Given the description of an element on the screen output the (x, y) to click on. 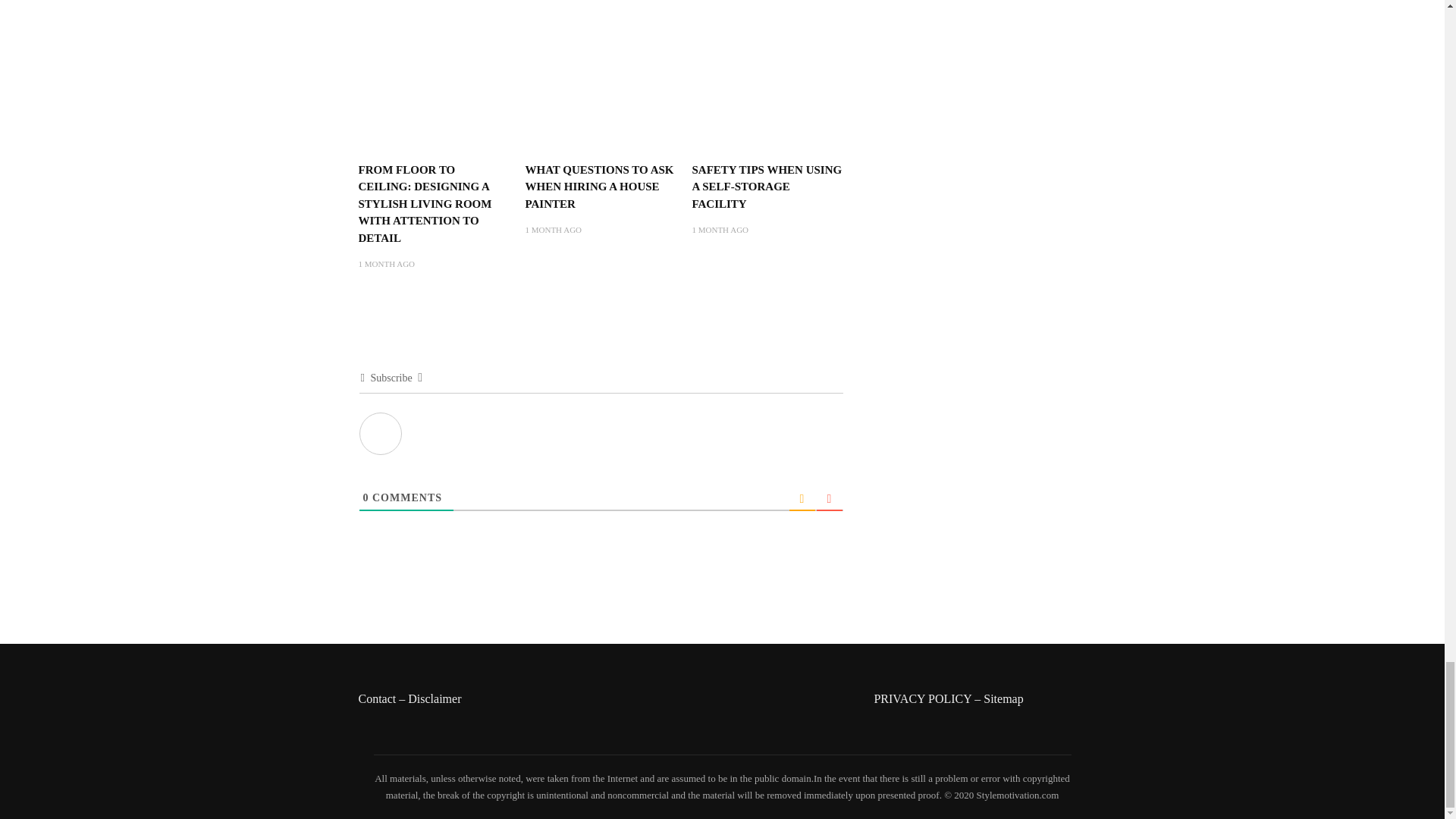
What Questions to Ask When Hiring a House Painter (600, 55)
